Given the description of an element on the screen output the (x, y) to click on. 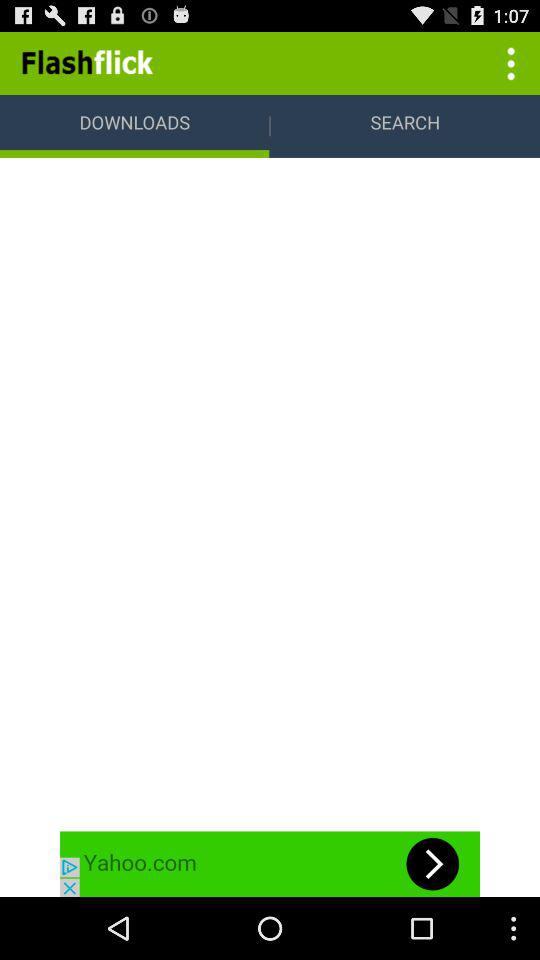
next pattern (270, 864)
